Given the description of an element on the screen output the (x, y) to click on. 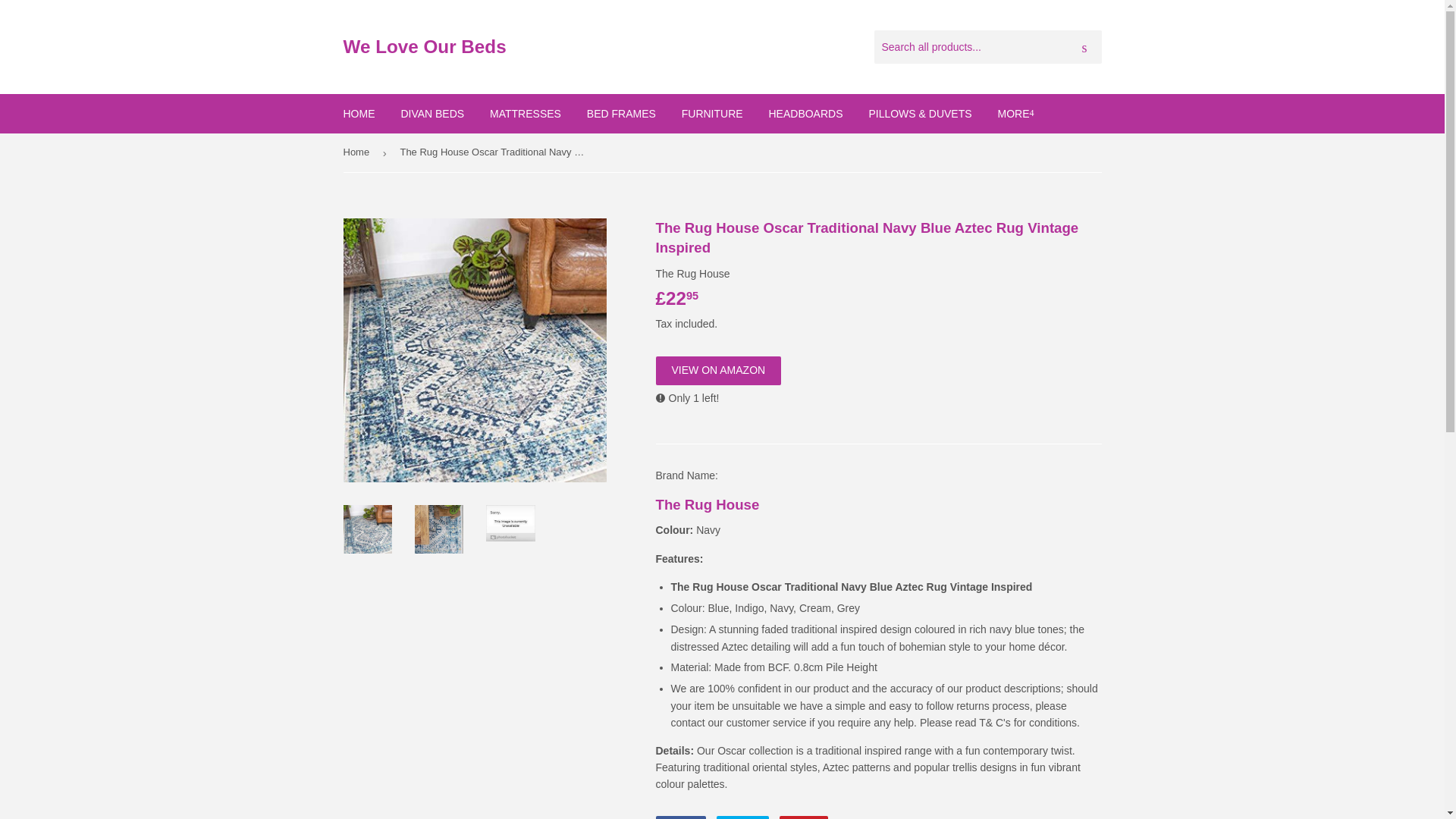
VIEW ON AMAZON (717, 370)
BED FRAMES (620, 113)
FURNITURE (711, 113)
Search (1084, 47)
Share on Facebook (679, 817)
MATTRESSES (803, 817)
MORE (525, 113)
Pin on Pinterest (1015, 113)
HEADBOARDS (803, 817)
Tweet on Twitter (805, 113)
HOME (742, 817)
DIVAN BEDS (679, 817)
